Given the description of an element on the screen output the (x, y) to click on. 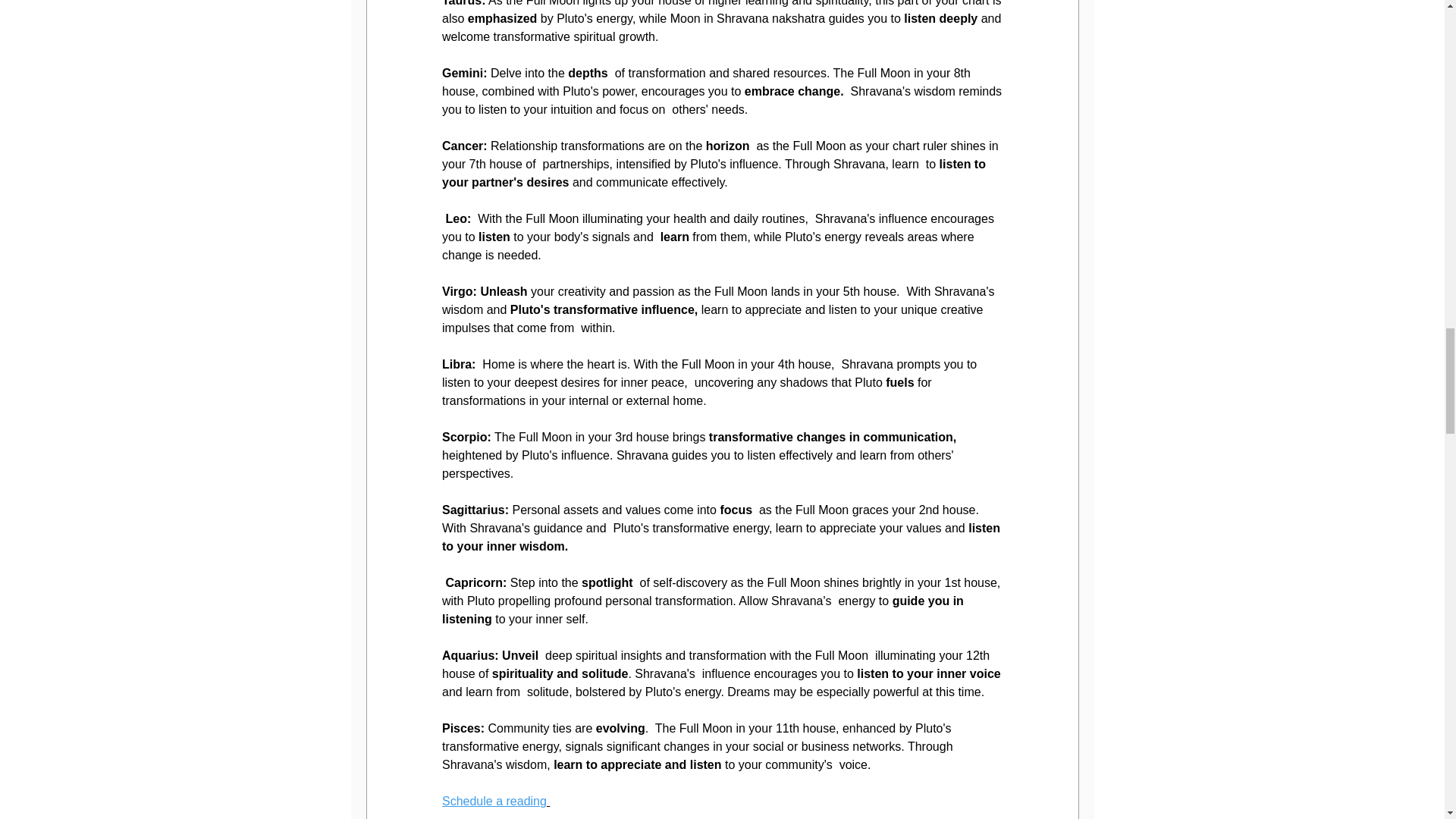
Schedule a reading (493, 800)
